Given the description of an element on the screen output the (x, y) to click on. 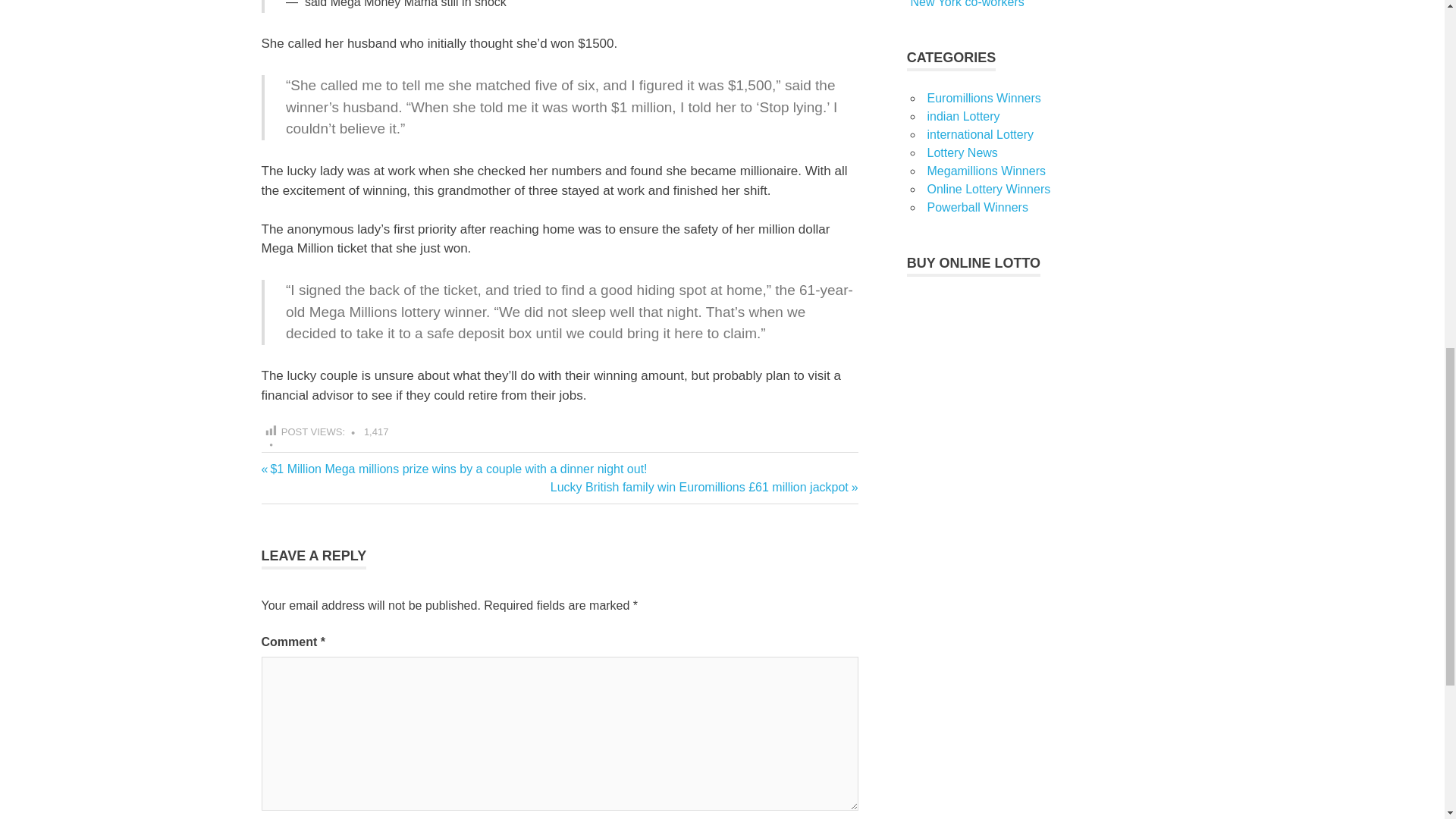
Powerball Winners (976, 206)
megamillions lottery winners (296, 478)
Online Lottery Winners (987, 188)
Lottery News (961, 152)
international Lottery (979, 133)
Euromillions Winners (983, 97)
Megamillions Winners (985, 170)
indian Lottery (962, 115)
